Given the description of an element on the screen output the (x, y) to click on. 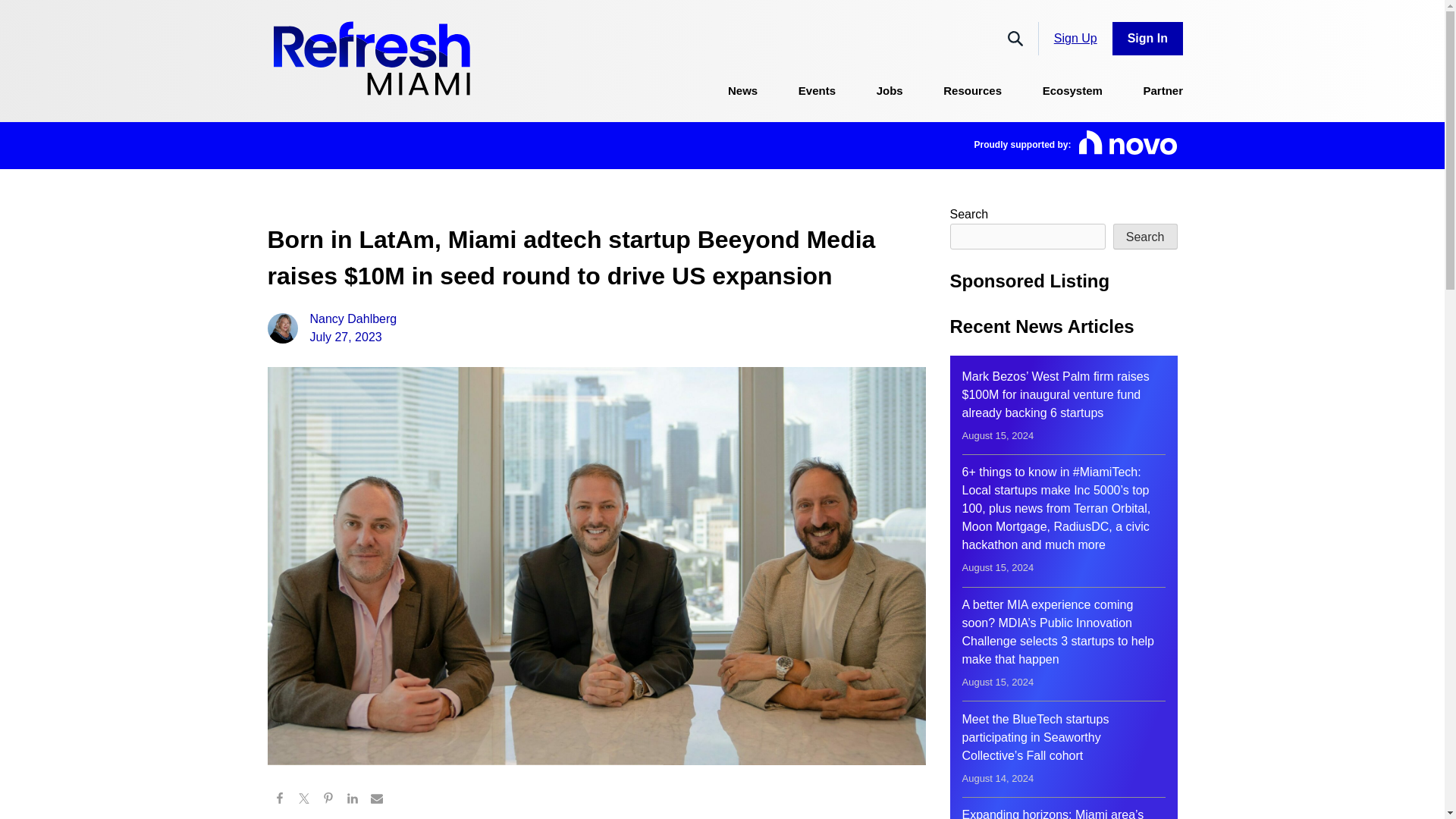
Events (816, 90)
Resources (972, 90)
Ecosystem (1072, 90)
Sign In (1147, 38)
Share via Email (376, 800)
Jobs (889, 90)
News (742, 90)
Share on Facebook (278, 800)
Sign Up (331, 328)
